Given the description of an element on the screen output the (x, y) to click on. 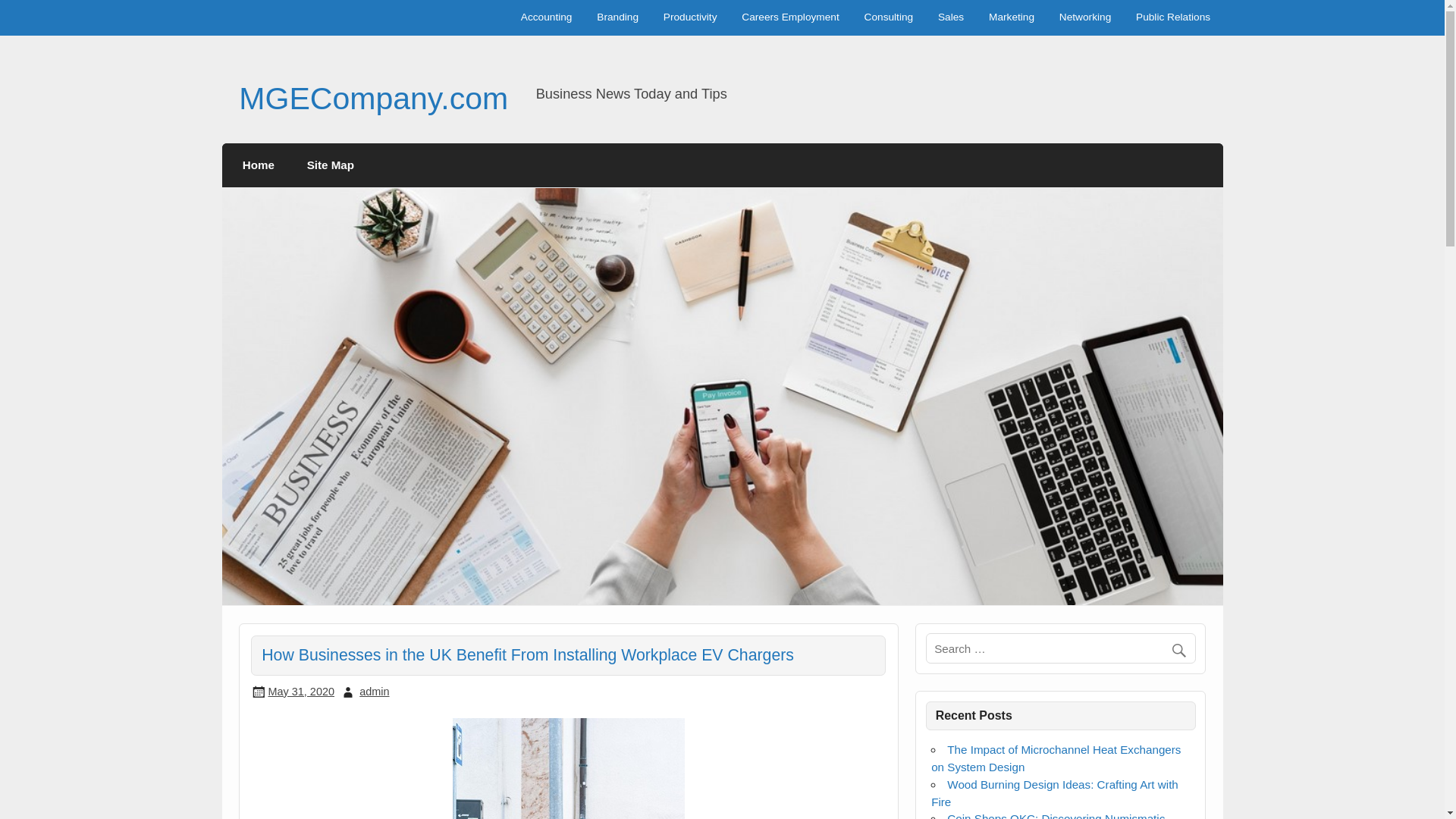
MGECompany.com (373, 98)
Marketing (1011, 18)
1:07 am (300, 691)
Wood Burning Design Ideas: Crafting Art with Fire (1054, 793)
Site Map (329, 165)
Networking (1084, 18)
View all posts by admin (373, 691)
The Impact of Microchannel Heat Exchangers on System Design (1055, 757)
Branding (617, 18)
Careers Employment (790, 18)
Accounting (545, 18)
Home (259, 165)
Productivity (689, 18)
Consulting (887, 18)
